Given the description of an element on the screen output the (x, y) to click on. 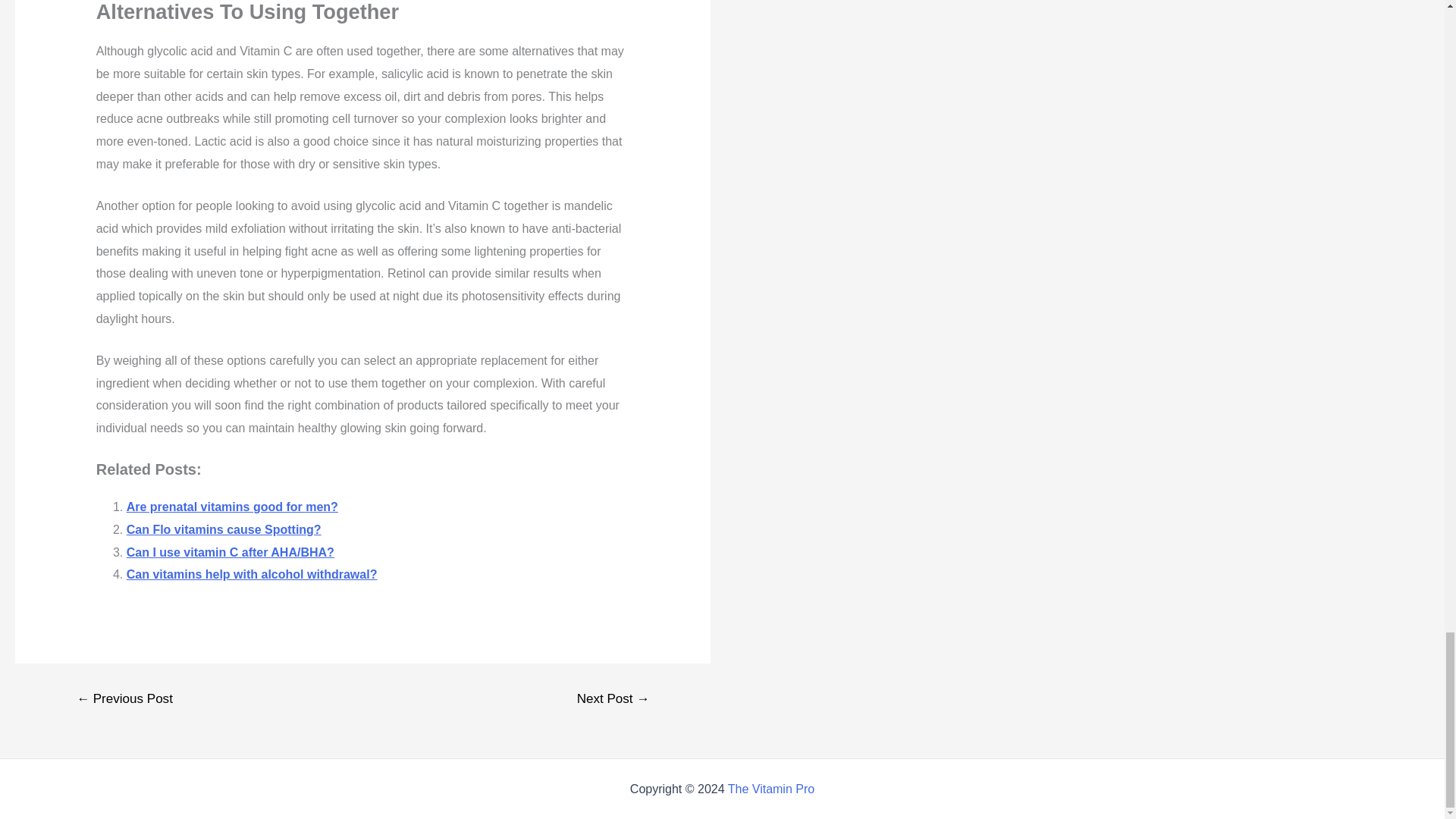
Are prenatal vitamins good for men? (231, 506)
Can Flo vitamins cause Spotting? (223, 529)
Are prenatal vitamins good for men? (231, 506)
Can vitamins help with alcohol withdrawal? (251, 574)
Can Flo vitamins cause Spotting? (223, 529)
Can vitamins help with alcohol withdrawal? (251, 574)
